Given the description of an element on the screen output the (x, y) to click on. 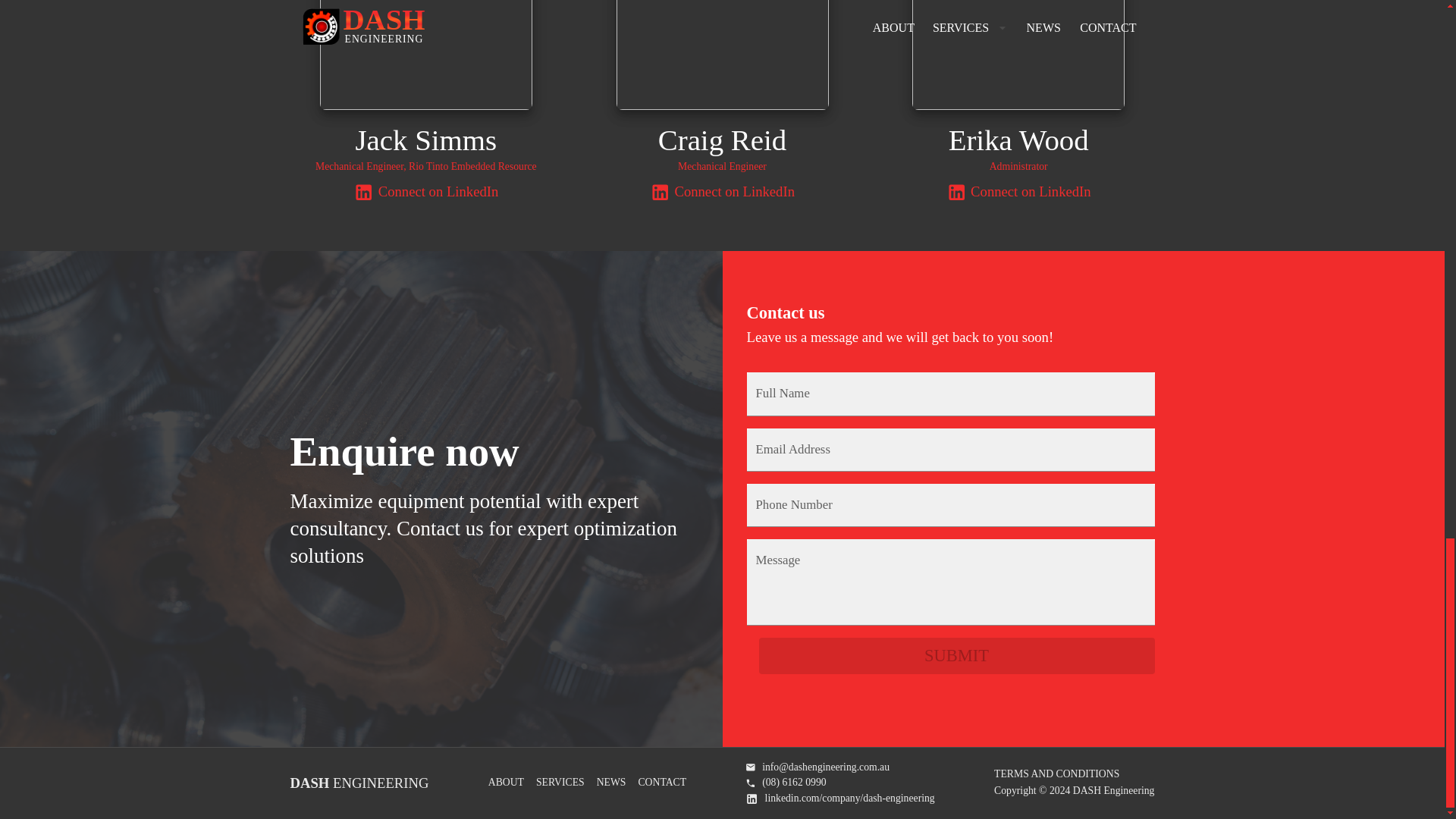
Connect on Linkedin (1018, 191)
Email us (839, 767)
Call us (839, 782)
ABOUT (505, 782)
Connect on LinkedIn (721, 191)
Connect on LinkedIn (425, 191)
CONTACT (661, 782)
TERMS AND CONDITIONS (1056, 774)
Connect on Linkedin (425, 191)
DASH ENGINEERING (358, 783)
SERVICES (560, 782)
Connect on LinkedIn (839, 798)
Connect on Linkedin (721, 191)
SUBMIT (956, 656)
Connect on LinkedIn (1018, 191)
